Given the description of an element on the screen output the (x, y) to click on. 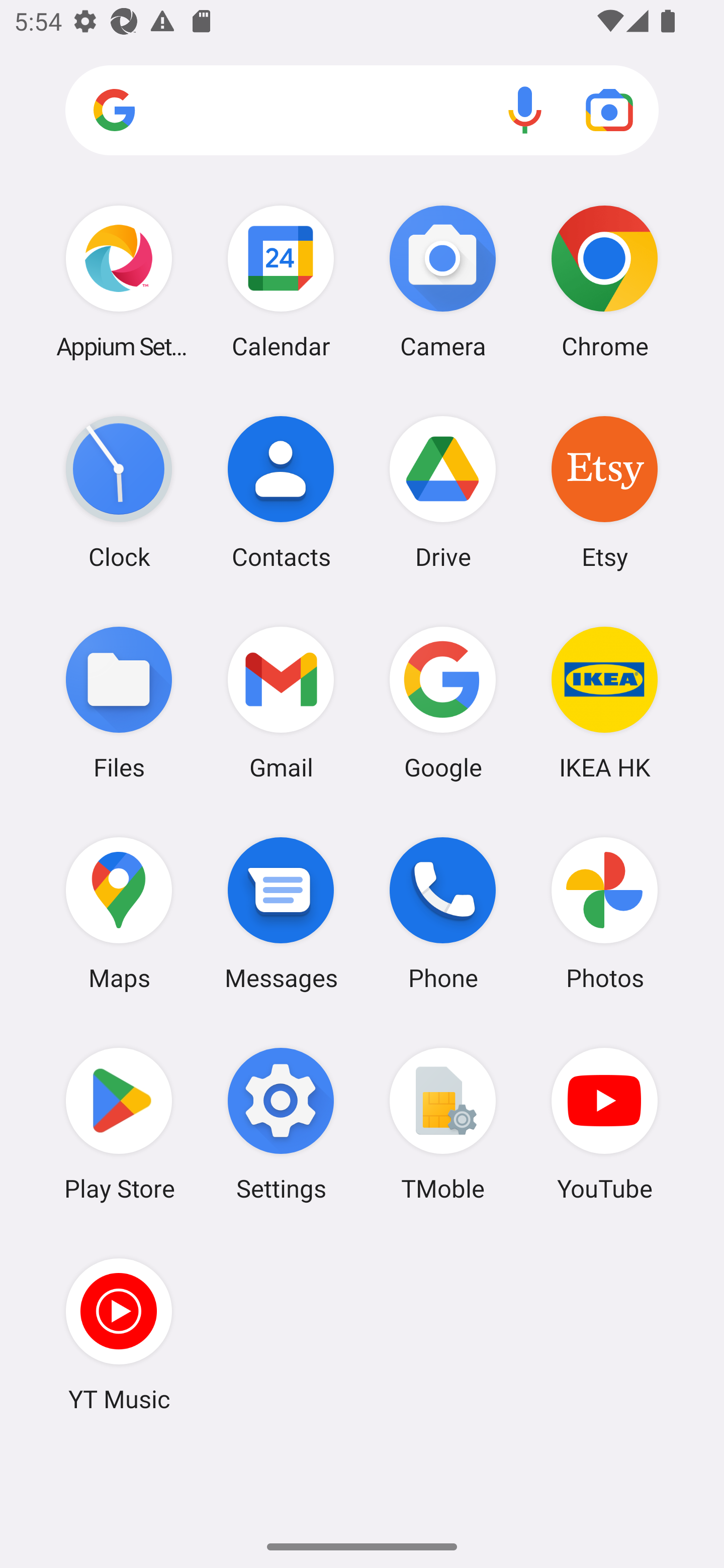
Search apps, web and more (361, 110)
Voice search (524, 109)
Google Lens (608, 109)
Appium Settings (118, 281)
Calendar (280, 281)
Camera (443, 281)
Chrome (604, 281)
Clock (118, 492)
Contacts (280, 492)
Drive (443, 492)
Etsy (604, 492)
Files (118, 702)
Gmail (280, 702)
Google (443, 702)
IKEA HK (604, 702)
Maps (118, 913)
Messages (280, 913)
Phone (443, 913)
Photos (604, 913)
Play Store (118, 1124)
Settings (280, 1124)
TMoble (443, 1124)
YouTube (604, 1124)
YT Music (118, 1334)
